Given the description of an element on the screen output the (x, y) to click on. 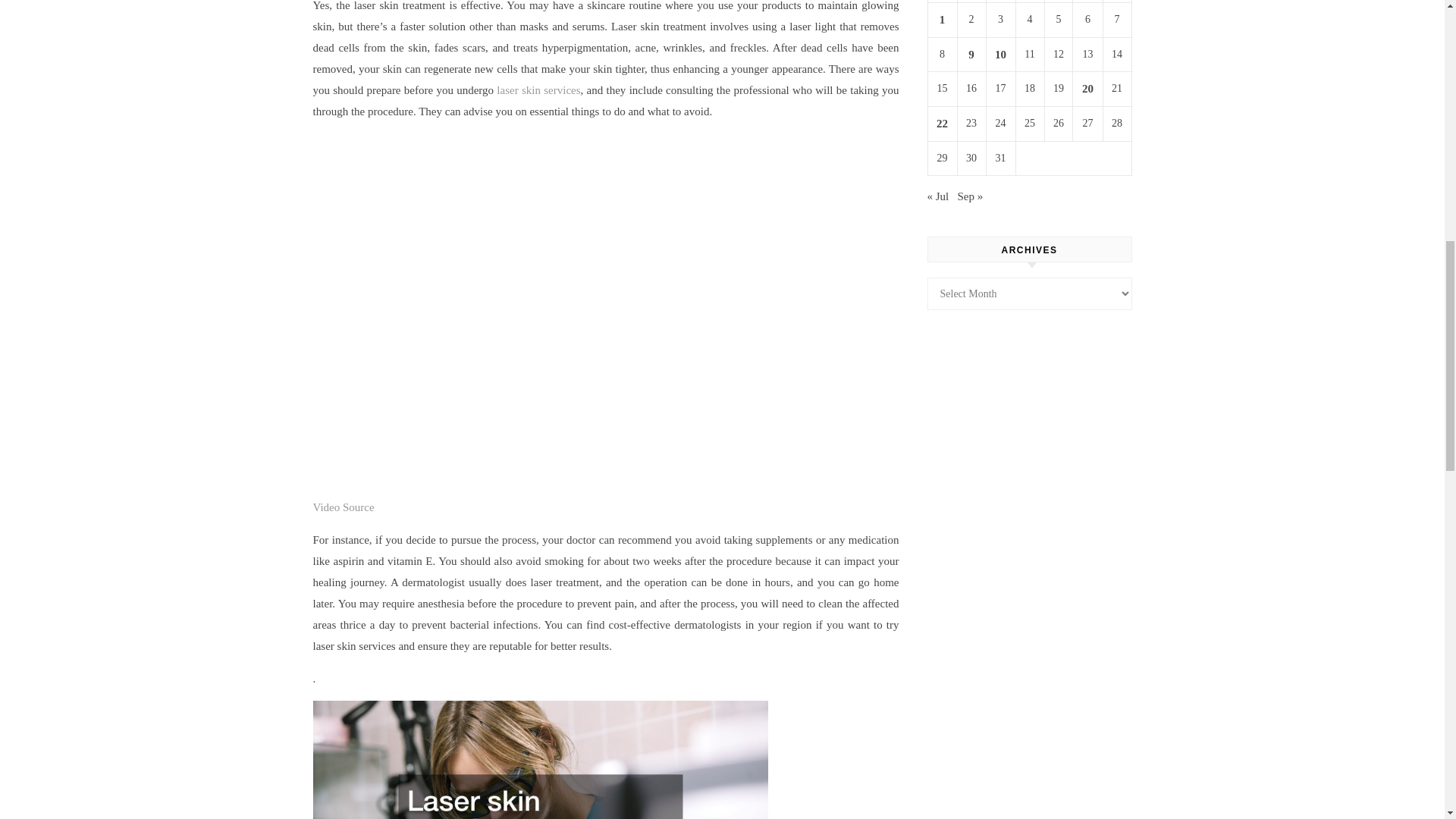
Friday (1058, 1)
Wednesday (999, 1)
laser skin services (537, 90)
Monday (941, 1)
Tuesday (970, 1)
Thursday (1028, 1)
Video Source (343, 507)
Sunday (1116, 1)
Saturday (1087, 1)
